Given the description of an element on the screen output the (x, y) to click on. 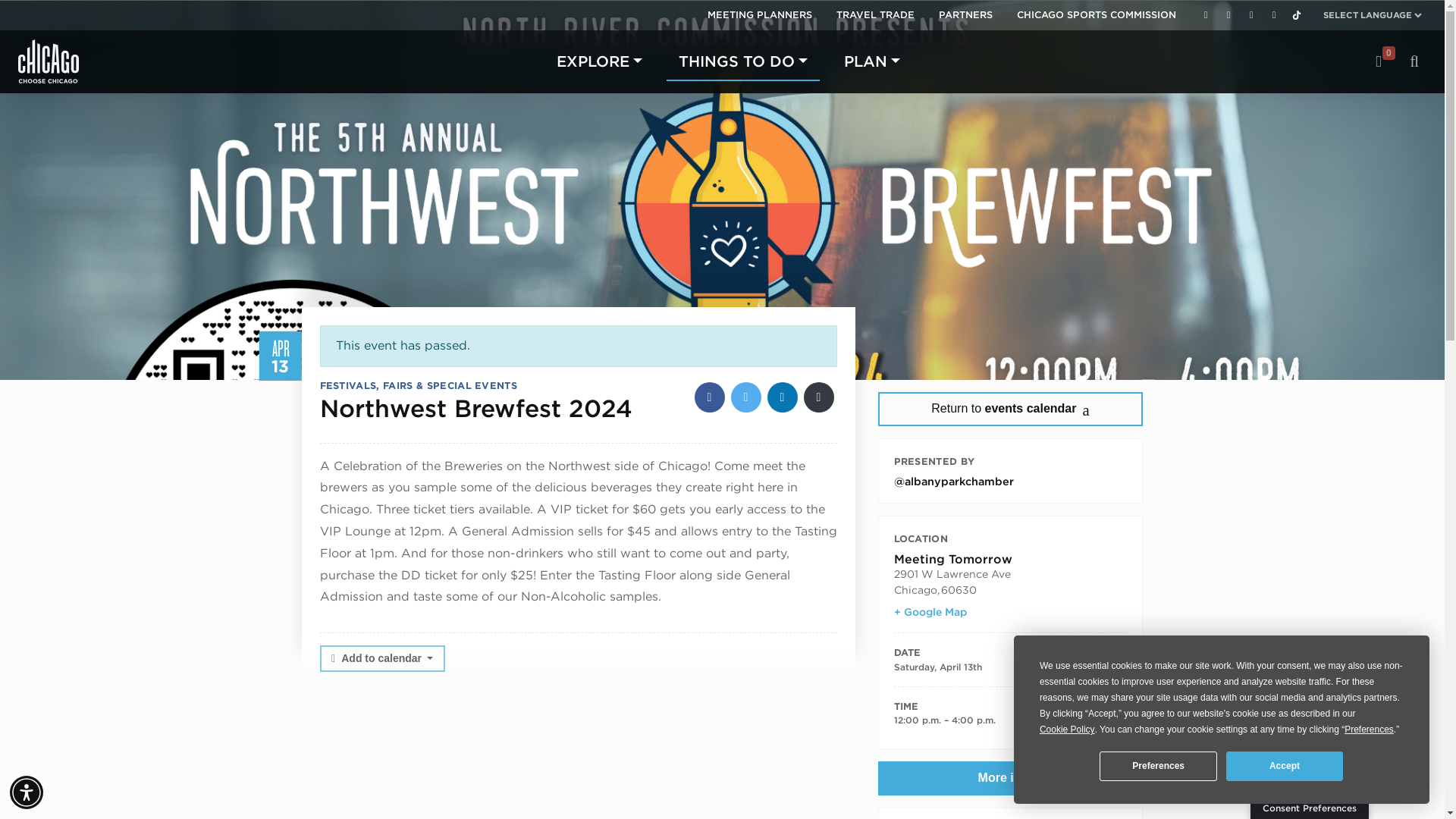
2024-04-13 (937, 666)
Share on Twitter (745, 397)
2024-04-13 (1009, 720)
Accessibility Menu (26, 792)
Accept (1283, 766)
Preferences (1157, 766)
Share on Facebook (709, 397)
Preferences (1368, 729)
Share on LinkedIn (782, 397)
Cookie Policy (1066, 729)
Email a friend (818, 397)
THINGS TO DO (742, 61)
Click to view a Google Map (929, 611)
EXPLORE (598, 61)
